Given the description of an element on the screen output the (x, y) to click on. 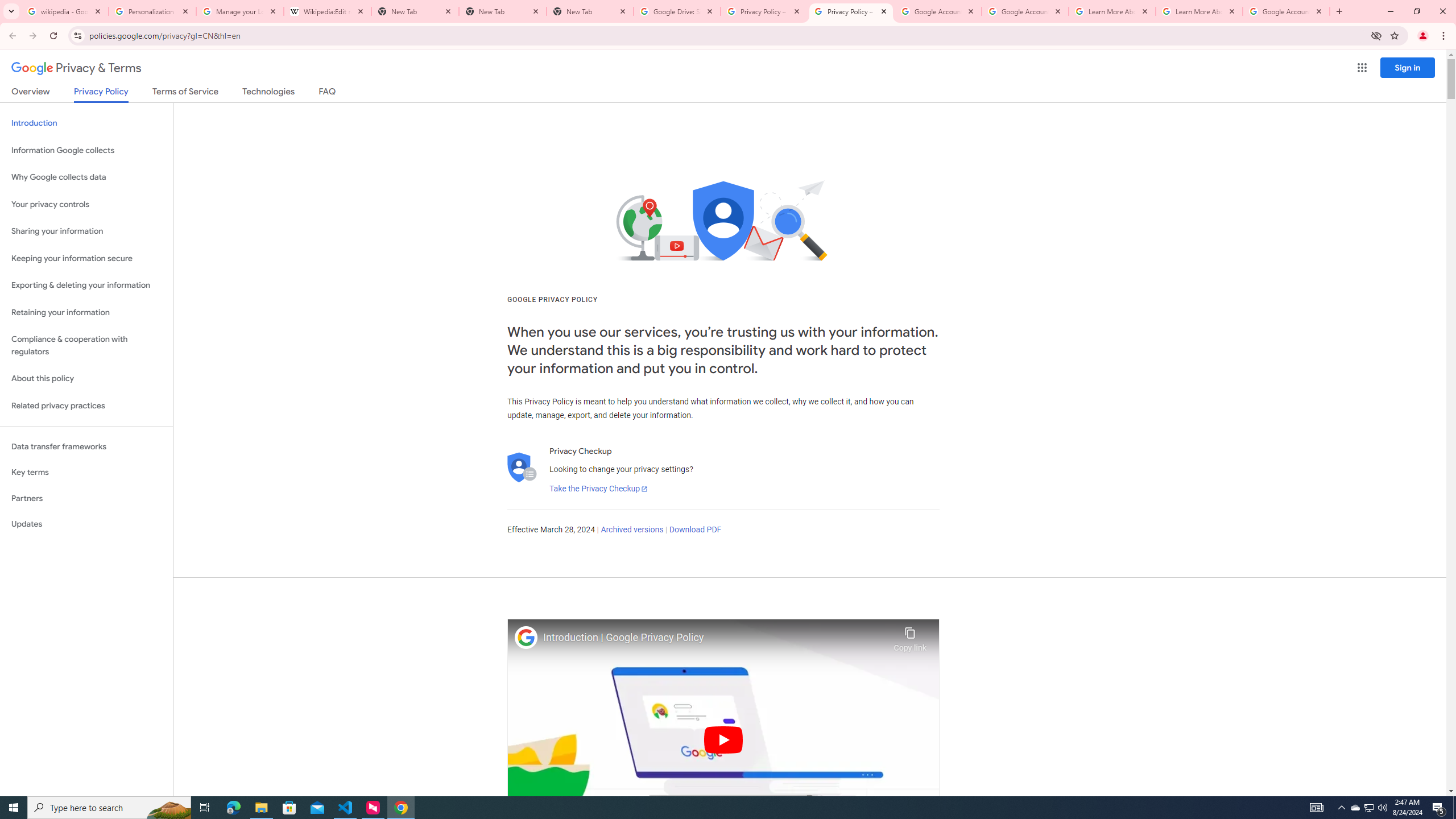
Google Account (1286, 11)
Introduction | Google Privacy Policy (715, 637)
